Given the description of an element on the screen output the (x, y) to click on. 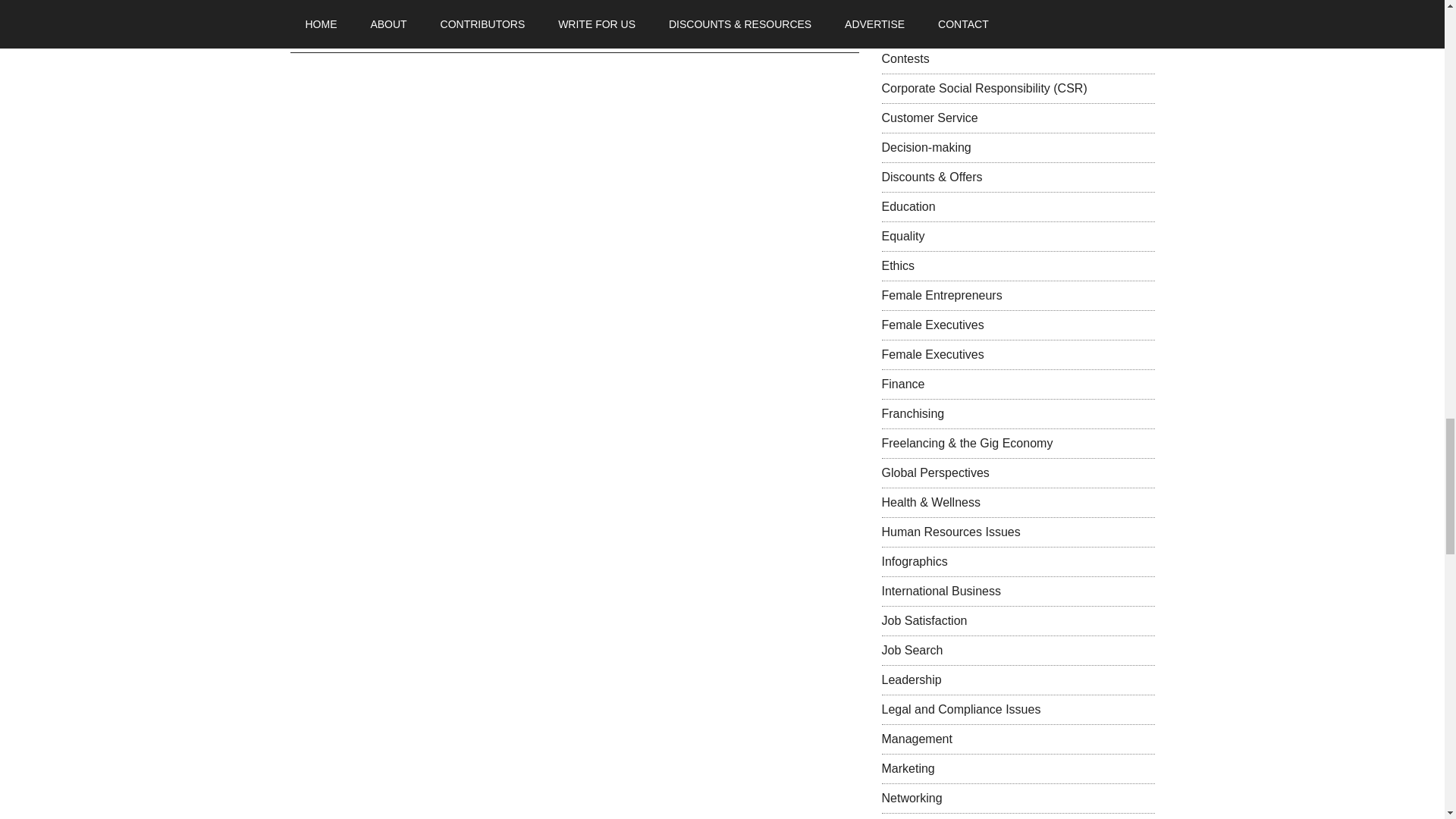
Career Development (936, 2)
